Given the description of an element on the screen output the (x, y) to click on. 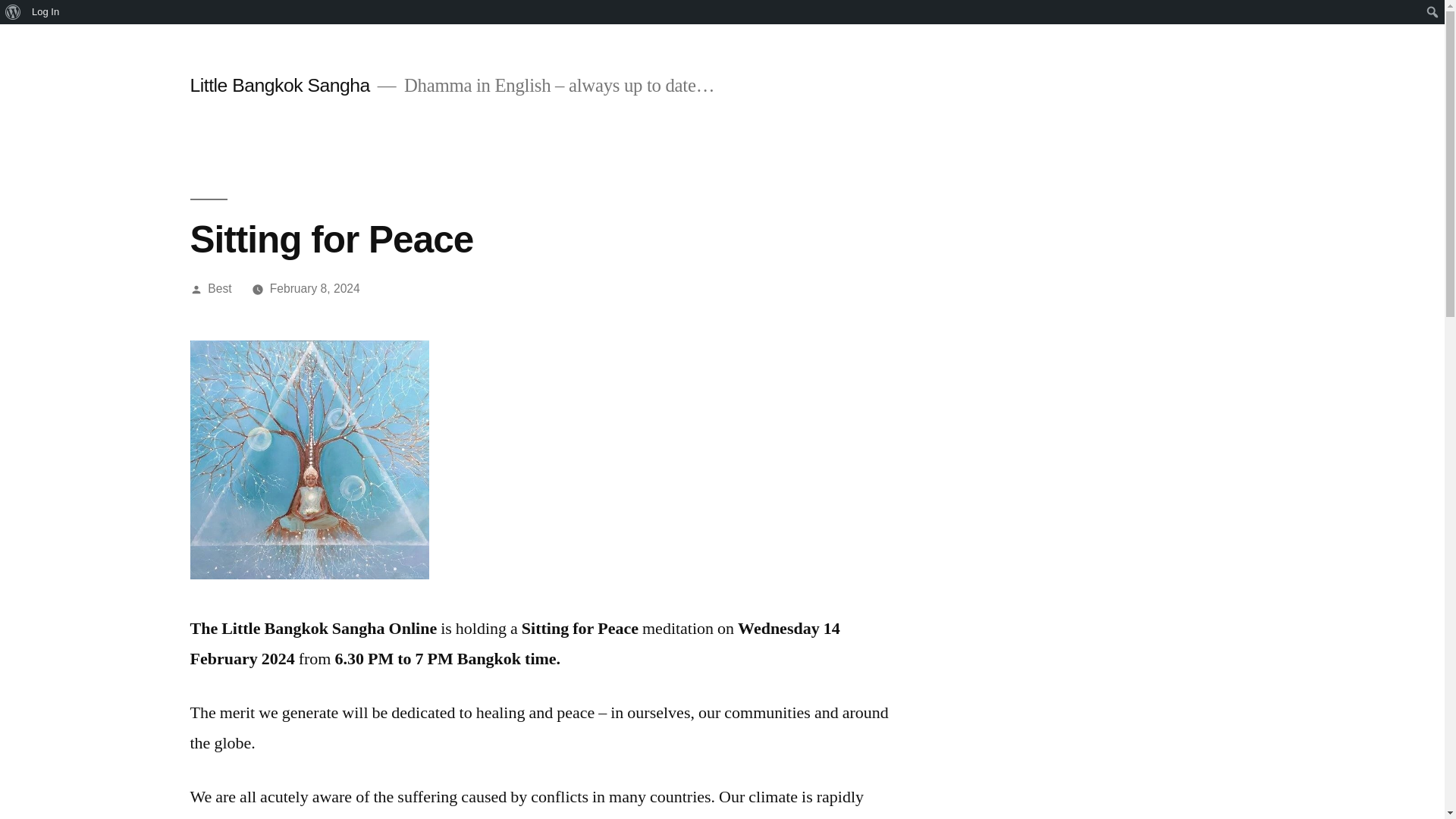
Search (15, 12)
Best (219, 287)
Little Bangkok Sangha (279, 85)
February 8, 2024 (314, 287)
Log In (45, 12)
